Given the description of an element on the screen output the (x, y) to click on. 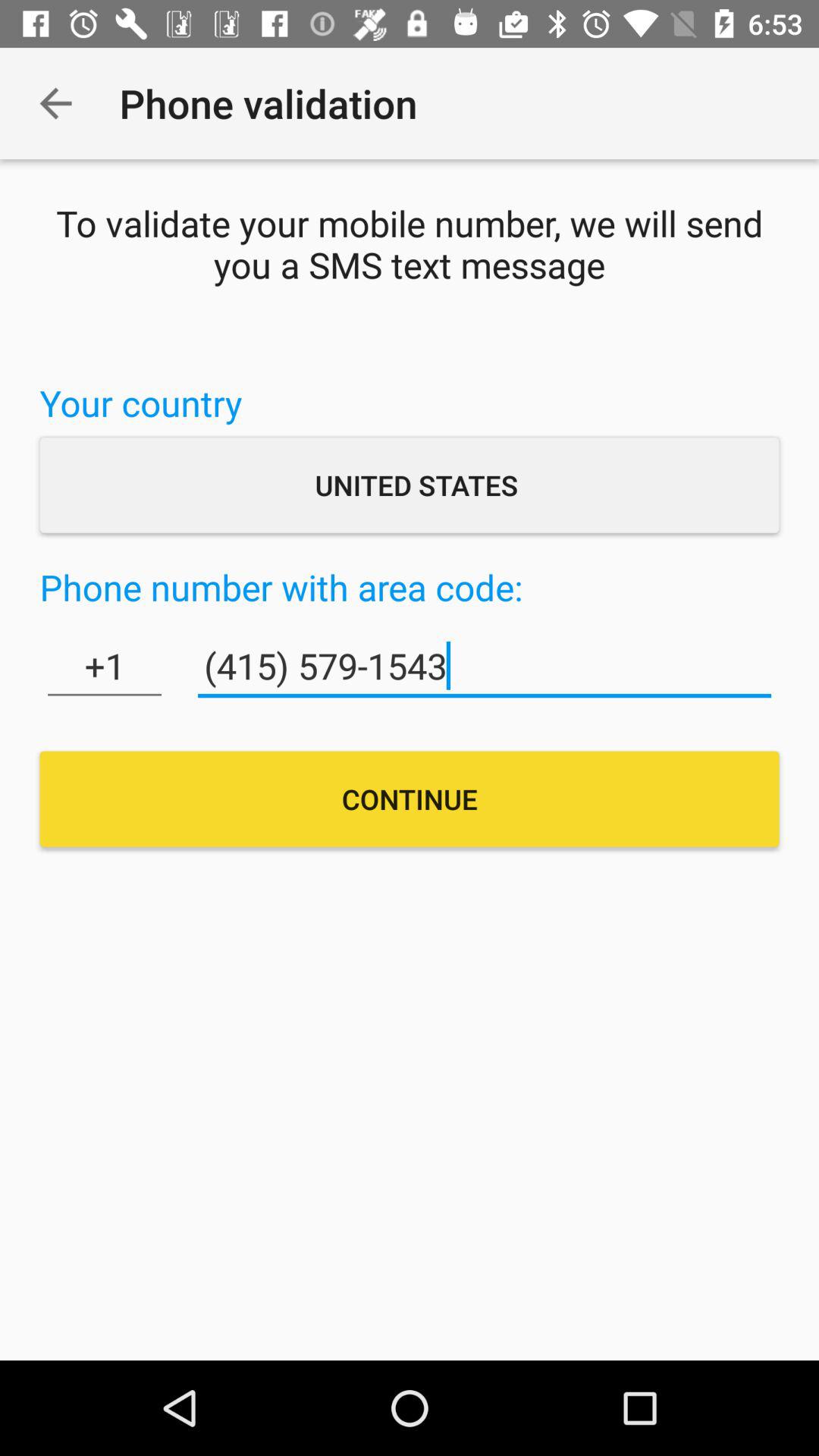
turn off the item above continue icon (484, 666)
